Given the description of an element on the screen output the (x, y) to click on. 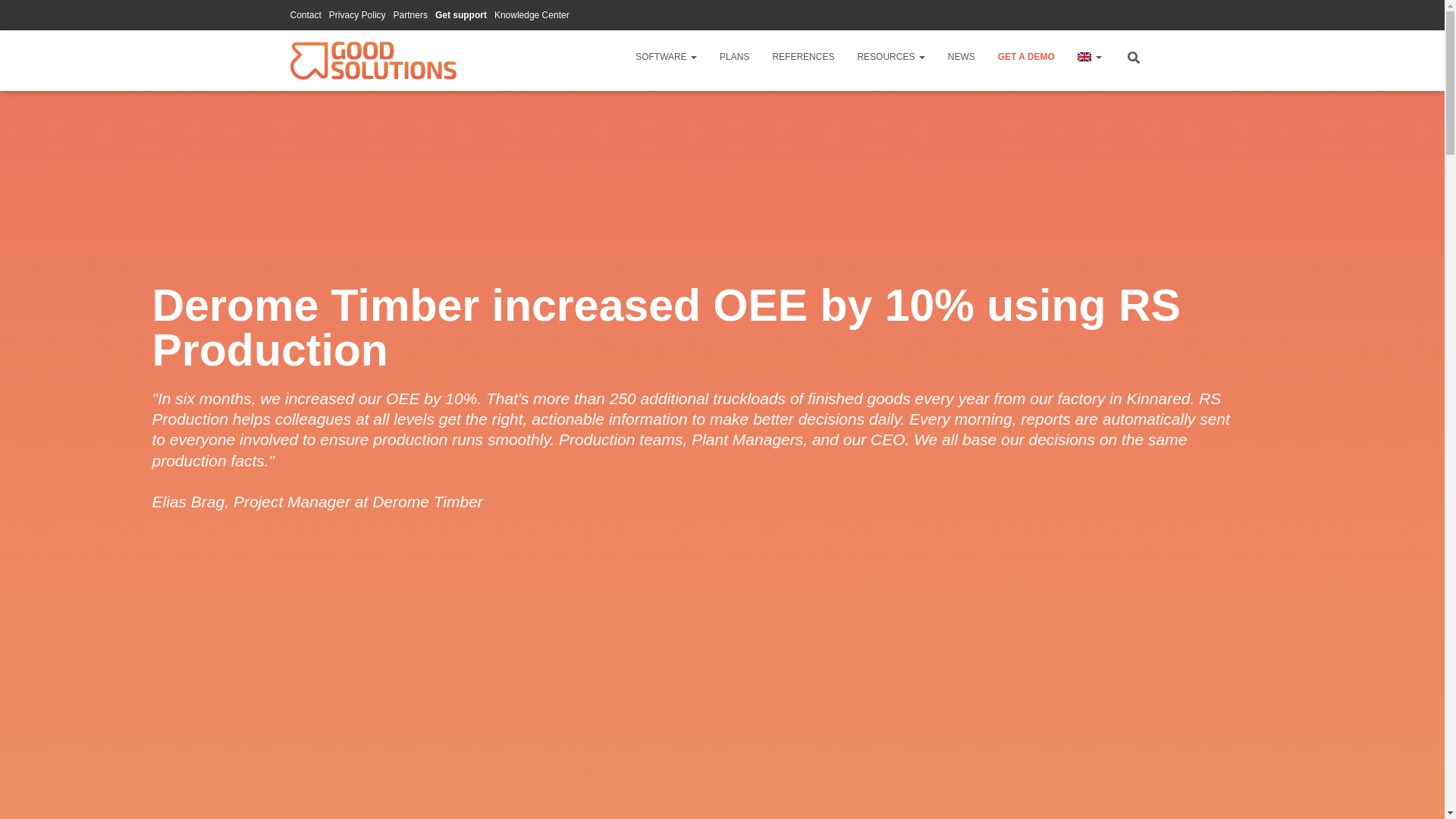
RESOURCES (890, 56)
NEWS (961, 56)
REFERENCES (802, 56)
Knowledge Center (532, 15)
SOFTWARE (665, 56)
Contact (304, 15)
Privacy Policy (357, 15)
Get support (460, 15)
References (802, 56)
Plans (733, 56)
